Given the description of an element on the screen output the (x, y) to click on. 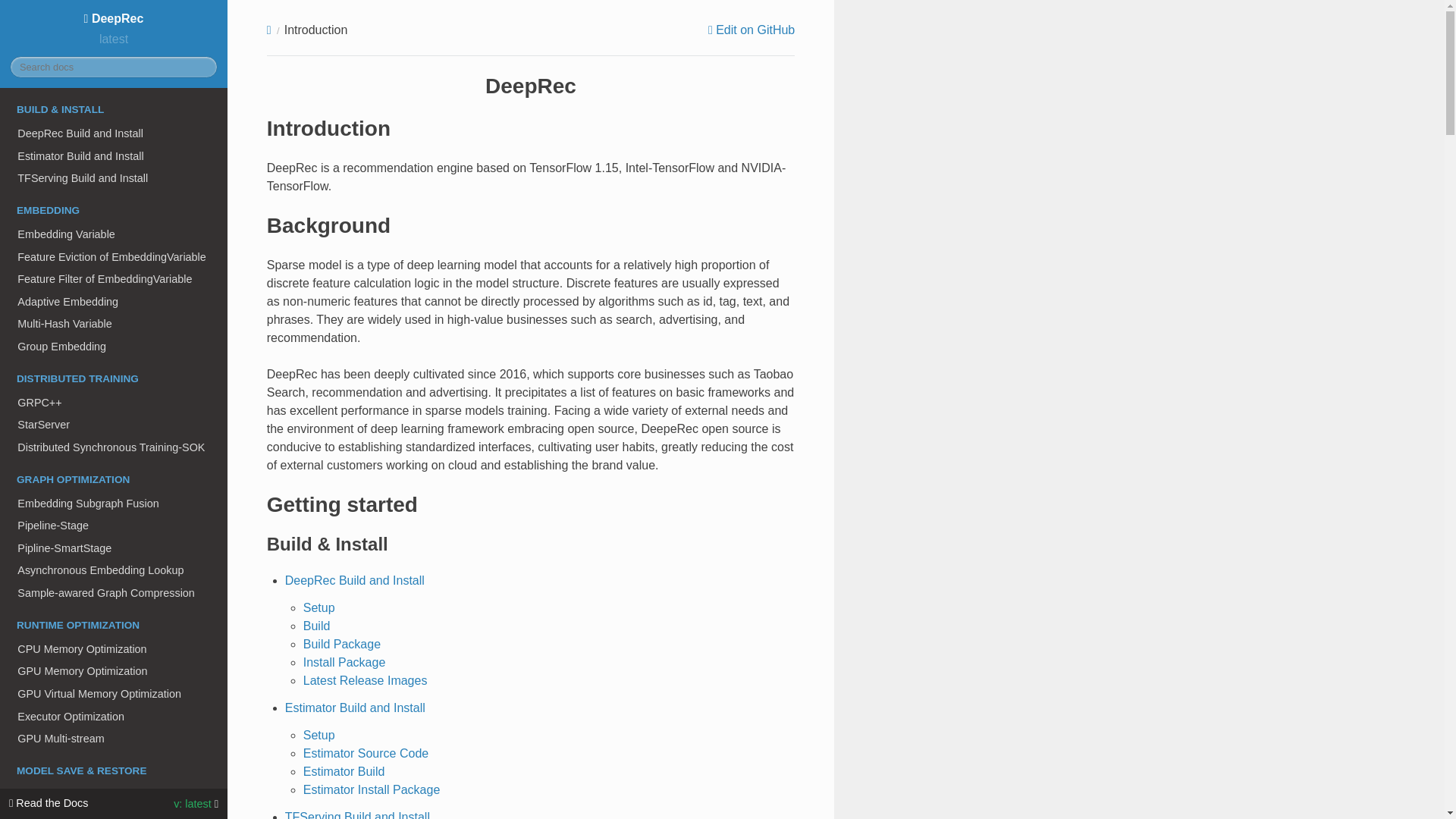
DeepRec (114, 18)
Embedding Variable (113, 233)
Adaptive Embedding (113, 301)
Pipeline-Stage (113, 525)
Asynchronous Embedding Lookup (113, 570)
Feature Filter of EmbeddingVariable (113, 278)
GPU Memory Optimization (113, 671)
Incremental Checkpoint (113, 793)
TFServing Build and Install (113, 178)
Multi-Hash Variable (113, 323)
StarServer (113, 424)
Pipline-SmartStage (113, 548)
Group Embedding (113, 345)
Estimator Build and Install (113, 155)
Sample-awared Graph Compression (113, 592)
